Given the description of an element on the screen output the (x, y) to click on. 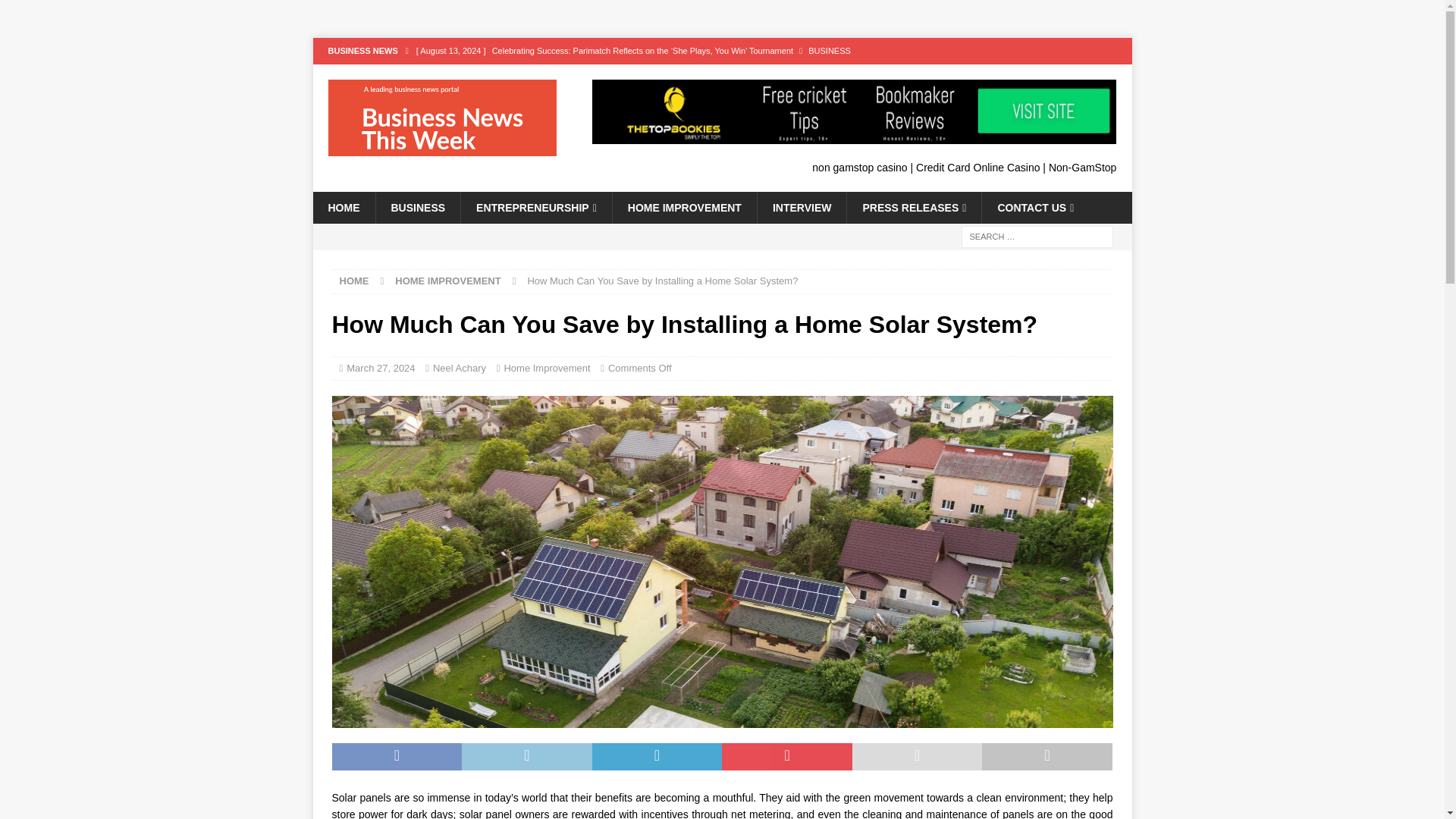
BUSINESS (417, 207)
HOME IMPROVEMENT (684, 207)
non gamstop casino (859, 167)
Non-GamStop (1082, 167)
INTERVIEW (802, 207)
Credit Card Online Casino (977, 167)
PRESS RELEASES (913, 207)
ENTREPRENEURSHIP (535, 207)
Search (56, 11)
HOME (354, 280)
